Given the description of an element on the screen output the (x, y) to click on. 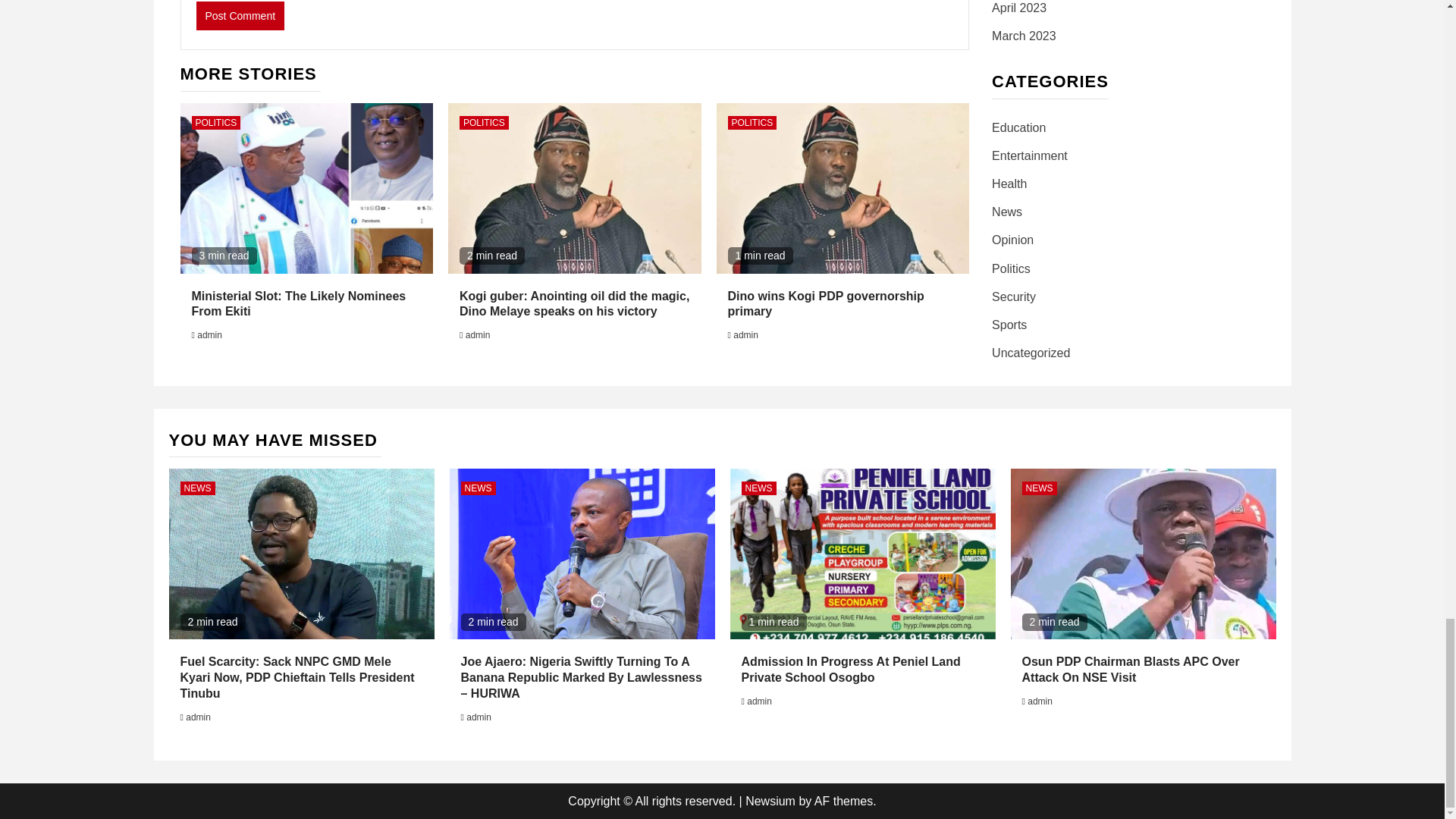
POLITICS (215, 122)
admin (209, 335)
Dino wins Kogi PDP governorship primary (826, 303)
POLITICS (752, 122)
Post Comment (239, 15)
Ministerial Slot: The Likely Nominees From Ekiti (298, 303)
admin (477, 335)
Post Comment (239, 15)
admin (745, 335)
